Given the description of an element on the screen output the (x, y) to click on. 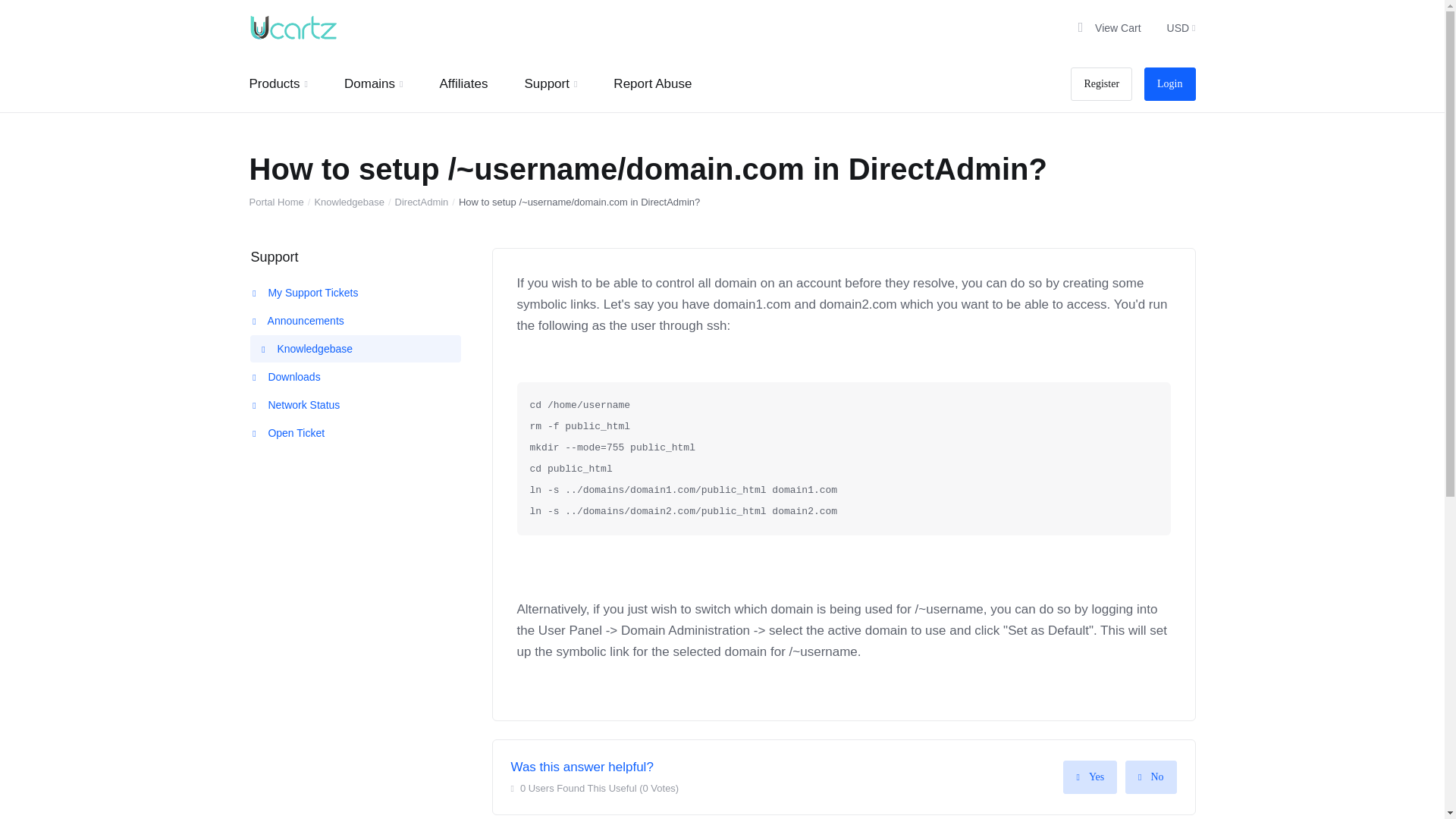
Ucartz Online Pvt Ltd (292, 28)
Products (277, 84)
USD (1177, 27)
View Cart (1107, 27)
